Given the description of an element on the screen output the (x, y) to click on. 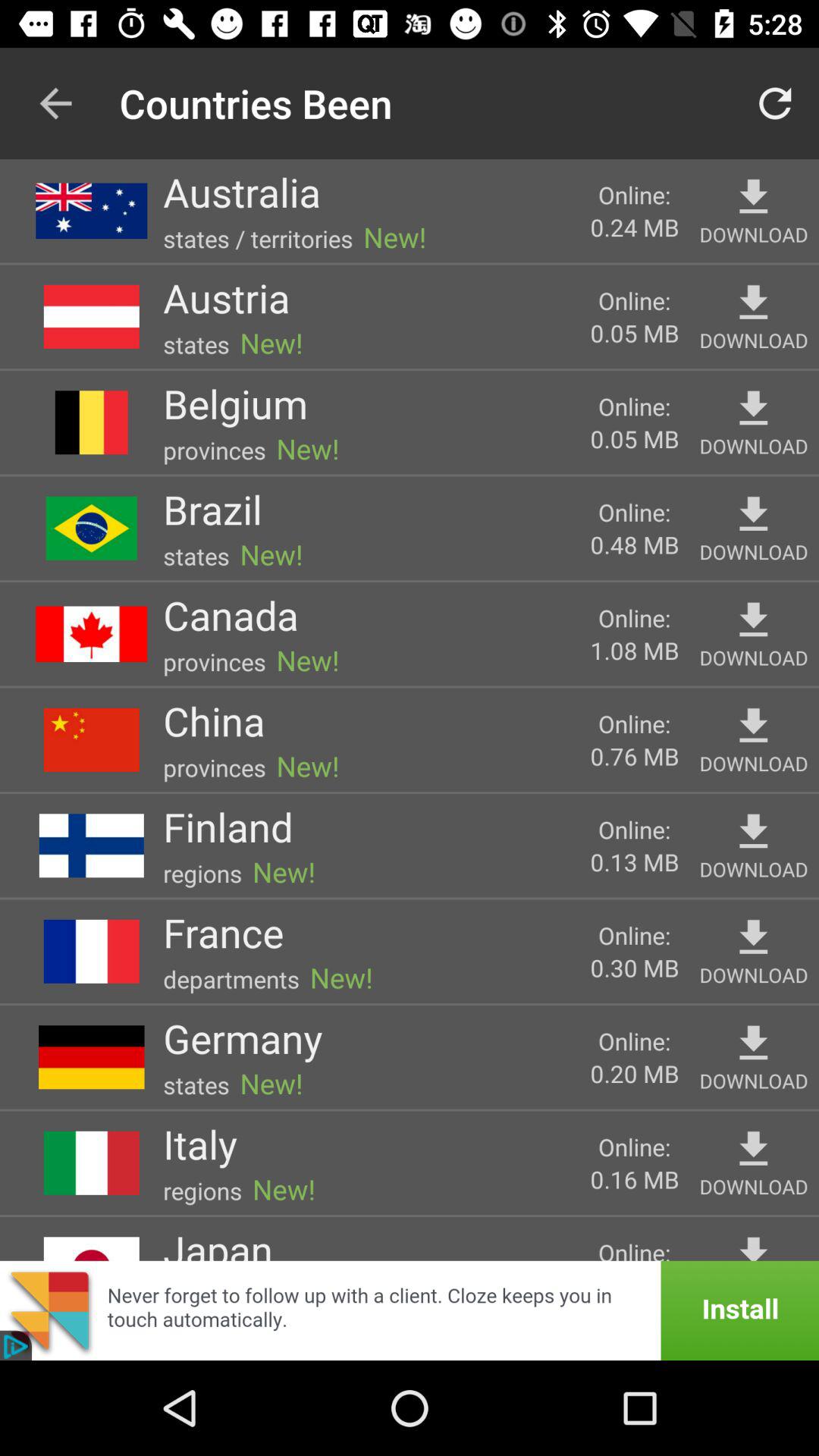
turn on the icon next to download item (634, 650)
